Given the description of an element on the screen output the (x, y) to click on. 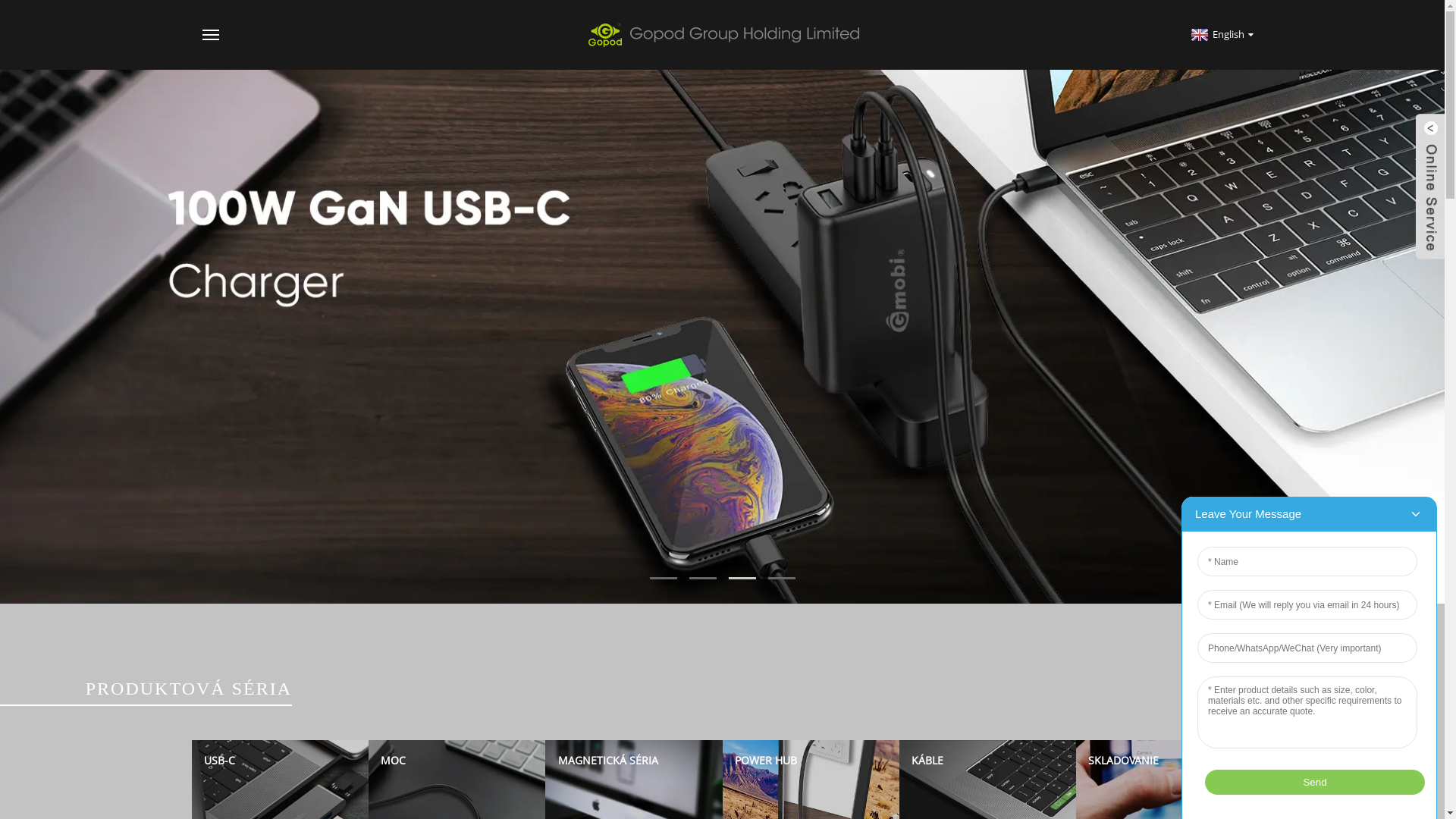
English Element type: text (1220, 33)
